Given the description of an element on the screen output the (x, y) to click on. 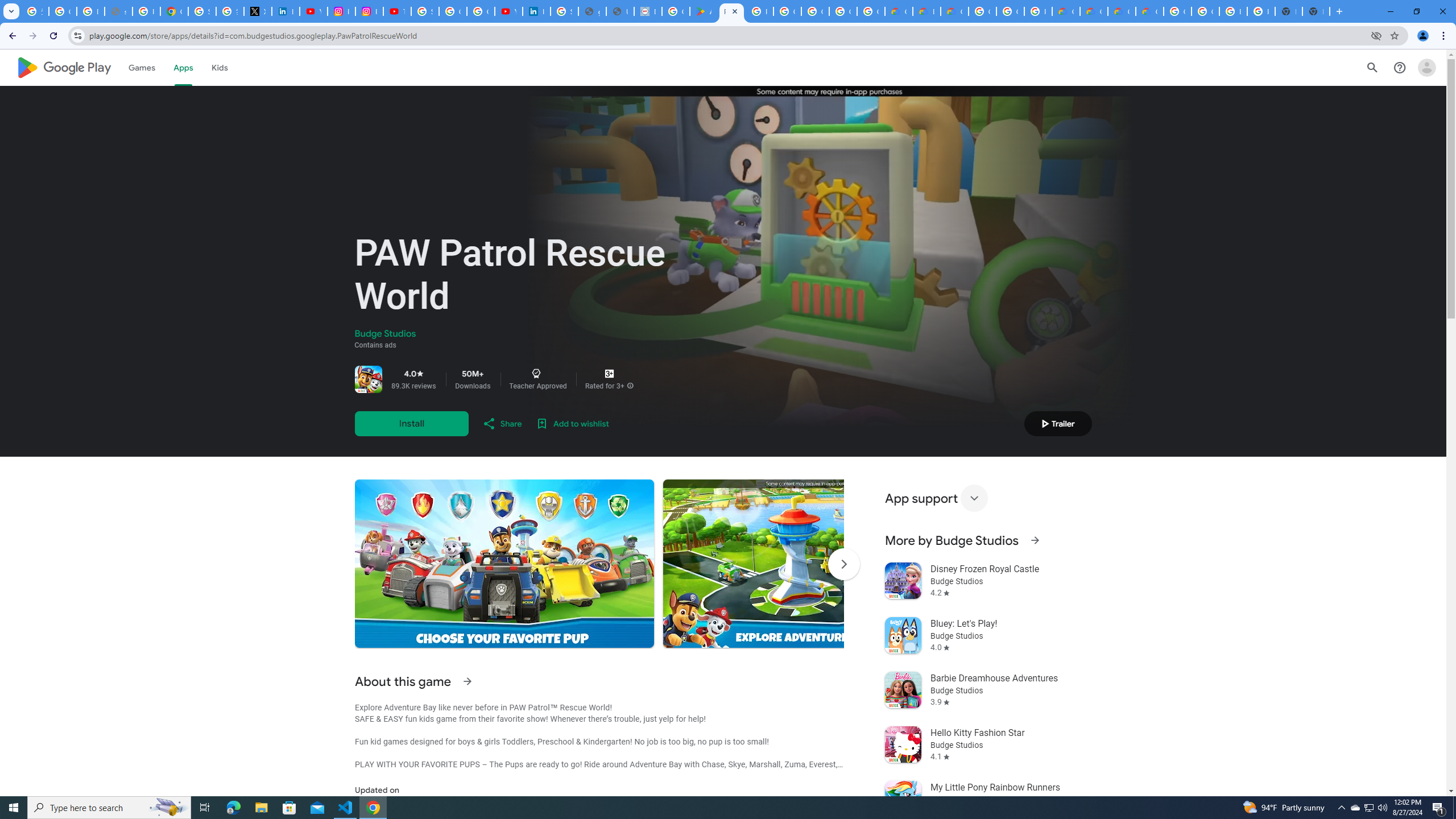
Customer Care | Google Cloud (1065, 11)
Kids (219, 67)
Customer Care | Google Cloud (898, 11)
Google Cloud Platform (1010, 11)
Budge Studios (384, 333)
